Given the description of an element on the screen output the (x, y) to click on. 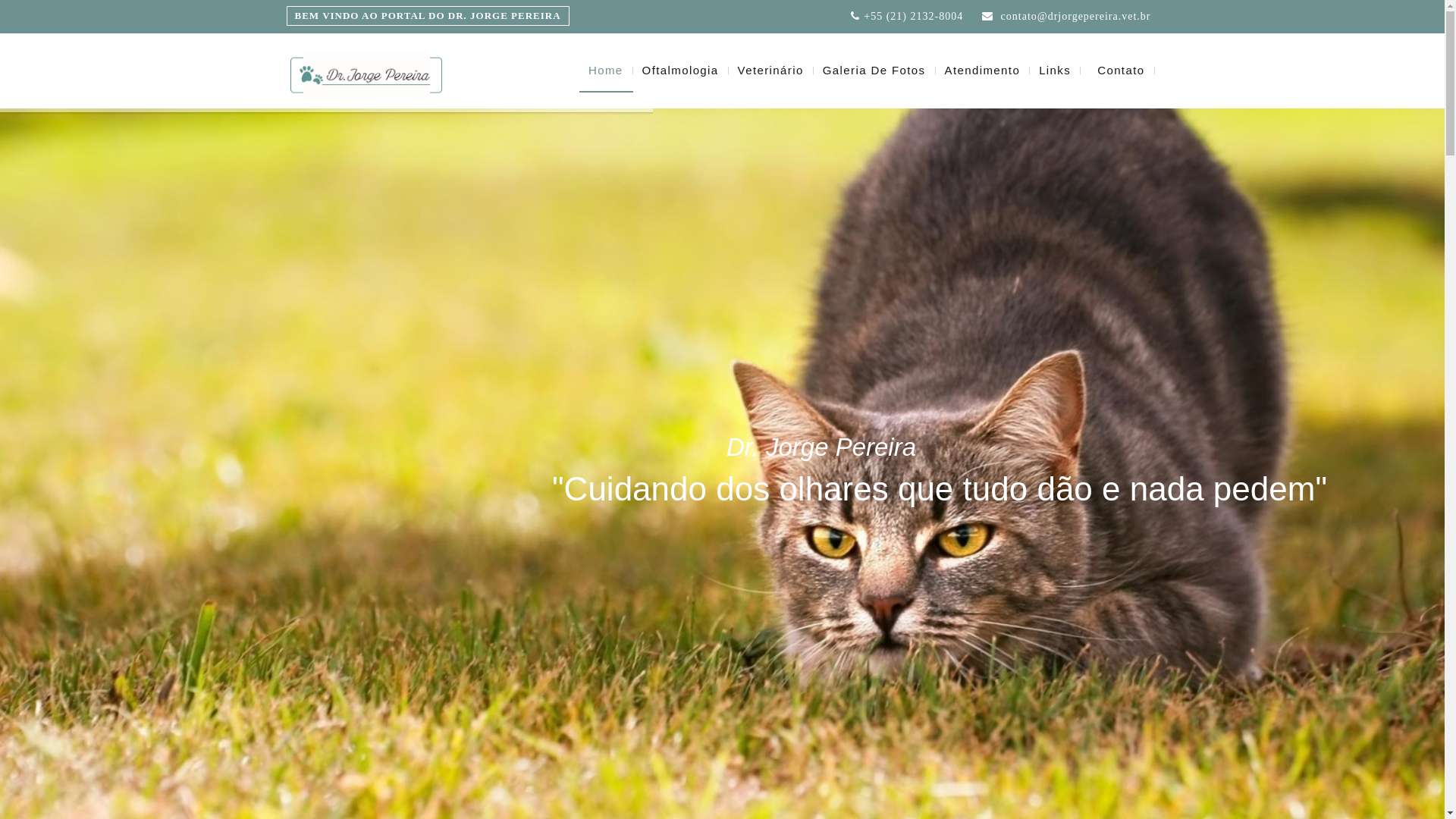
+55 (21) 2132-8004 Element type: text (912, 15)
Home Element type: text (606, 70)
contato@drjorgepereira.vet.br Element type: text (1073, 15)
Links Element type: text (1054, 70)
Contato Element type: text (1121, 70)
Atendimento Element type: text (982, 70)
Galeria De Fotos Element type: text (874, 70)
Urbanwine Element type: hover (365, 75)
Oftalmologia Element type: text (680, 70)
